Given the description of an element on the screen output the (x, y) to click on. 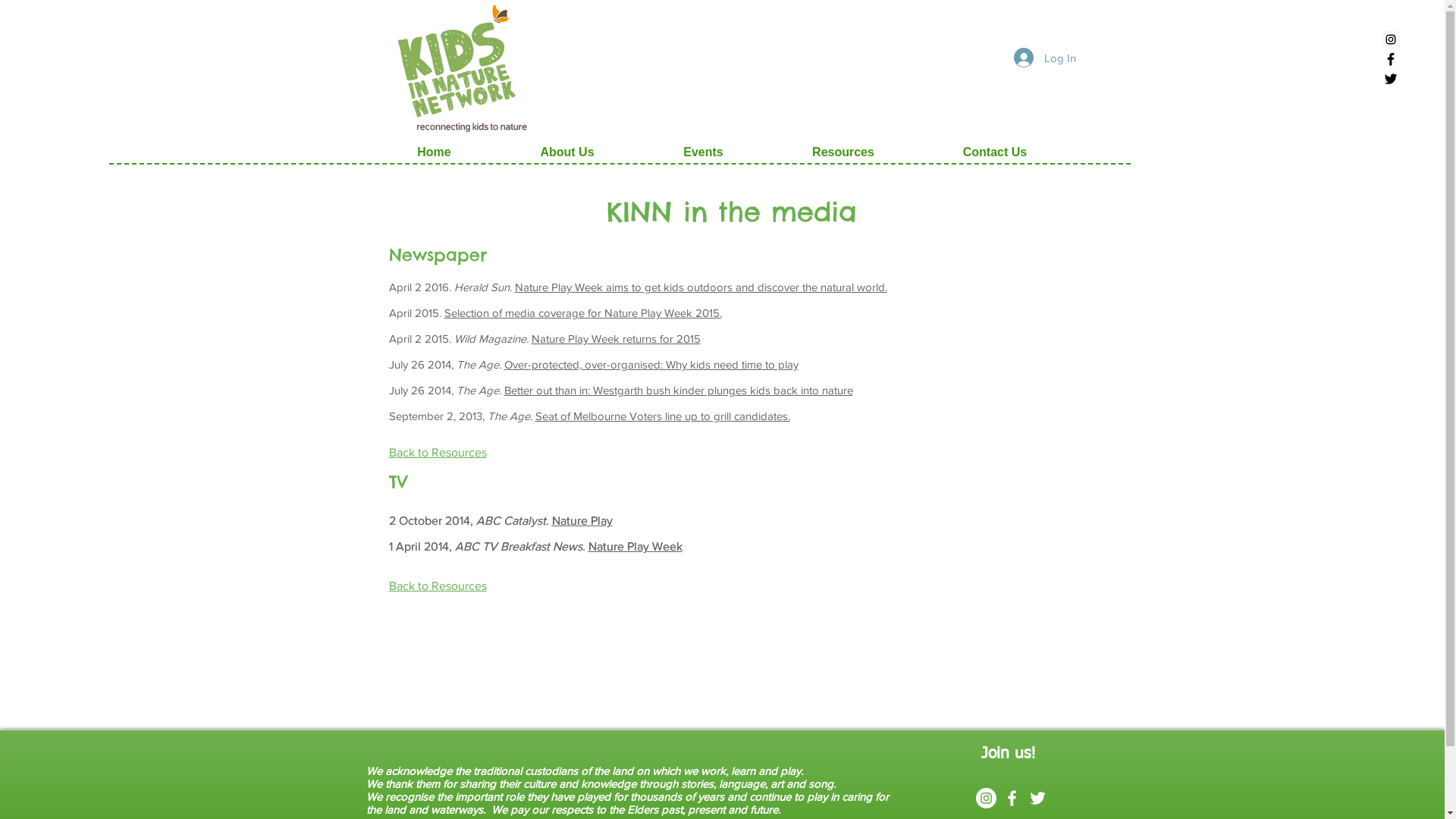
Back to Resources Element type: text (437, 585)
Nature Play Element type: text (582, 520)
Selection of media coverage for Nature Play Week 2015. Element type: text (582, 312)
Log In Element type: text (1043, 57)
Resources Element type: text (842, 151)
Nature Play Week Element type: text (635, 545)
Nature Play Week returns for 2015 Element type: text (614, 338)
Contact Us Element type: text (995, 151)
About Us Element type: text (567, 151)
Over-protected, over-organised: Why kids need time to play Element type: text (650, 363)
Home Element type: text (434, 151)
Events Element type: text (702, 151)
Back to Resources Element type: text (437, 451)
Seat of Melbourne Voters line up to grill candidates. Element type: text (662, 415)
